Given the description of an element on the screen output the (x, y) to click on. 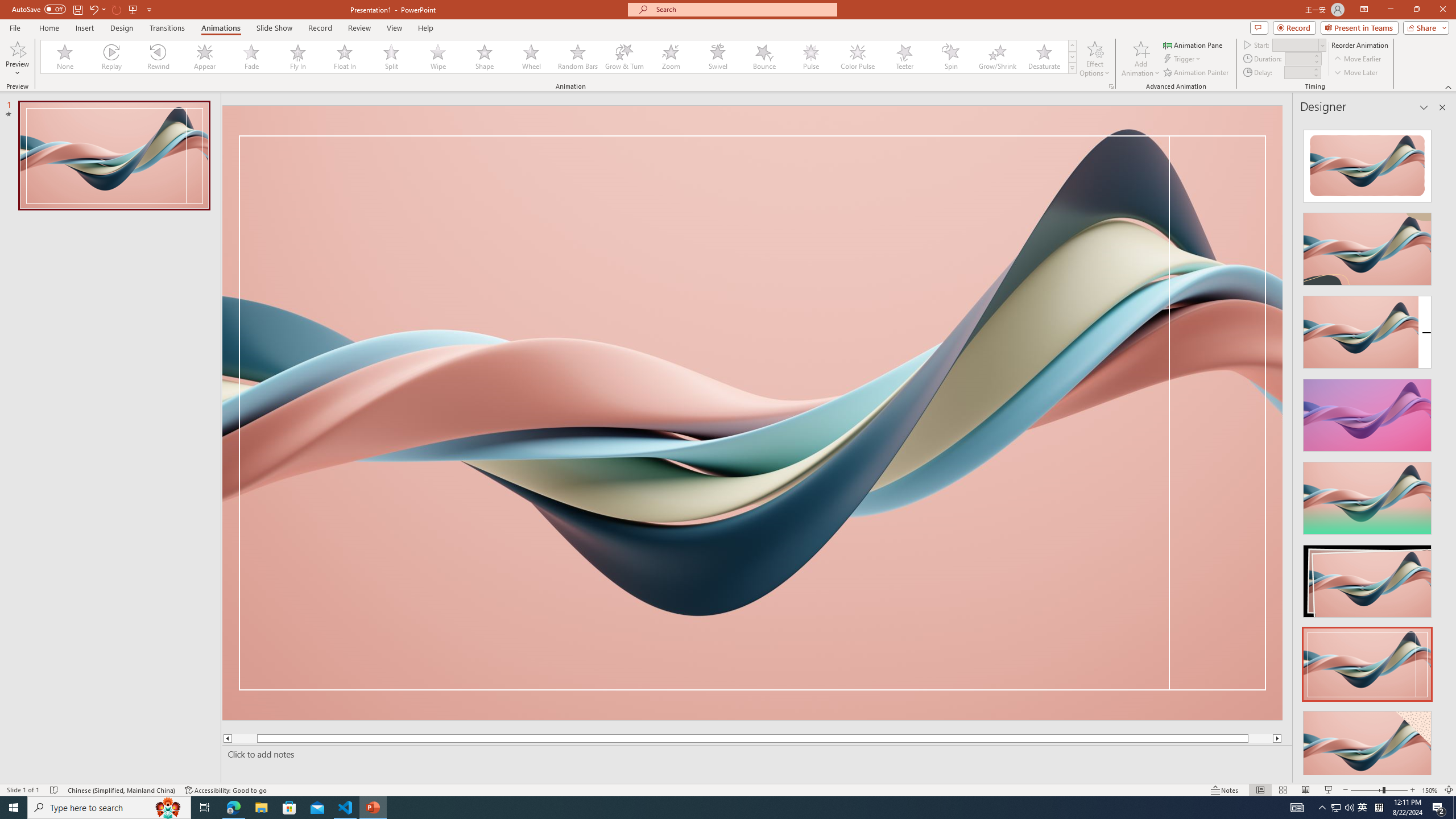
Color Pulse (857, 56)
Appear (205, 56)
Split (391, 56)
Fade (251, 56)
Add Animation (1141, 58)
